Given the description of an element on the screen output the (x, y) to click on. 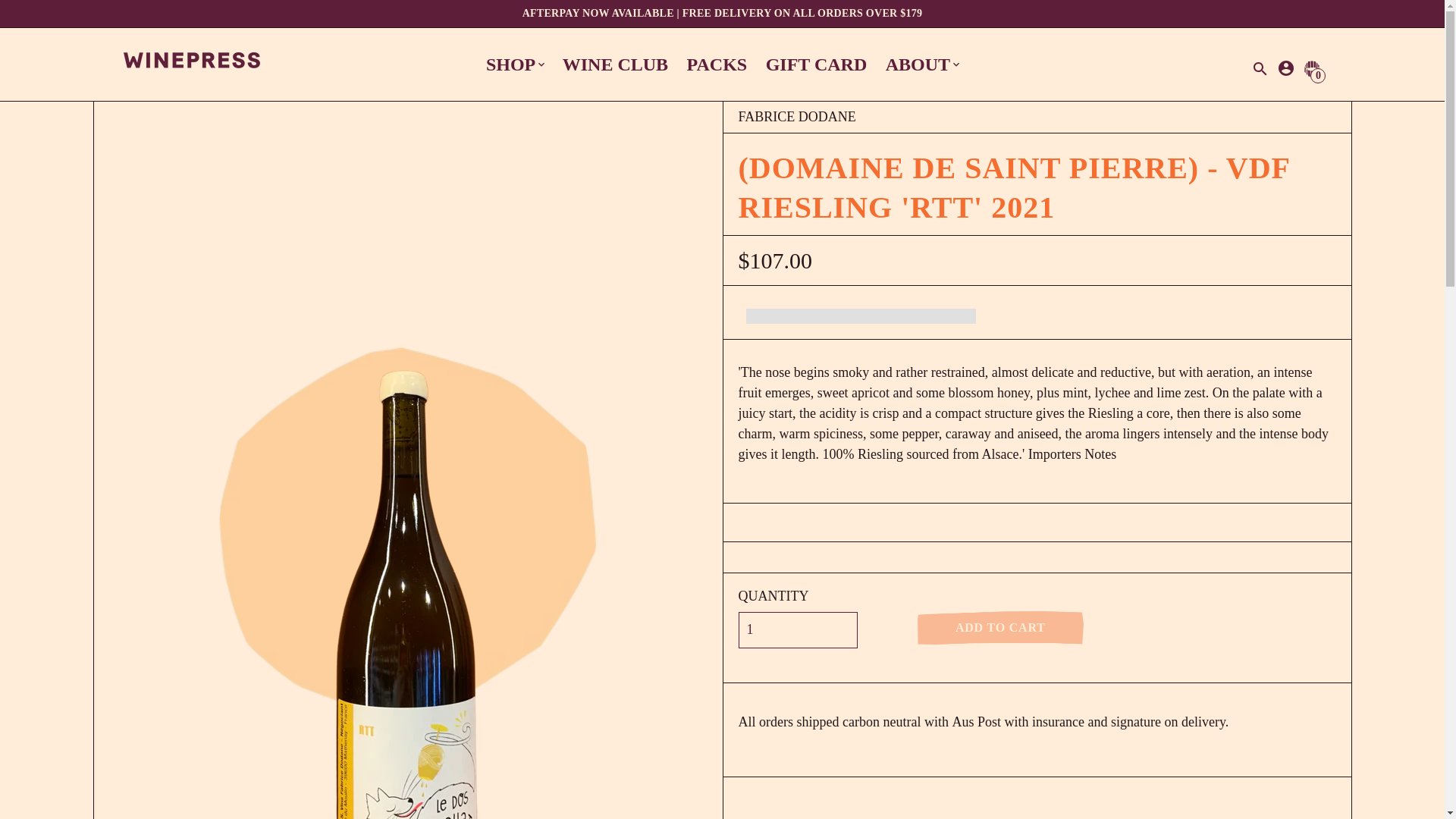
SHOP (514, 63)
1 (798, 629)
Fabrice Dodane (797, 116)
